Given the description of an element on the screen output the (x, y) to click on. 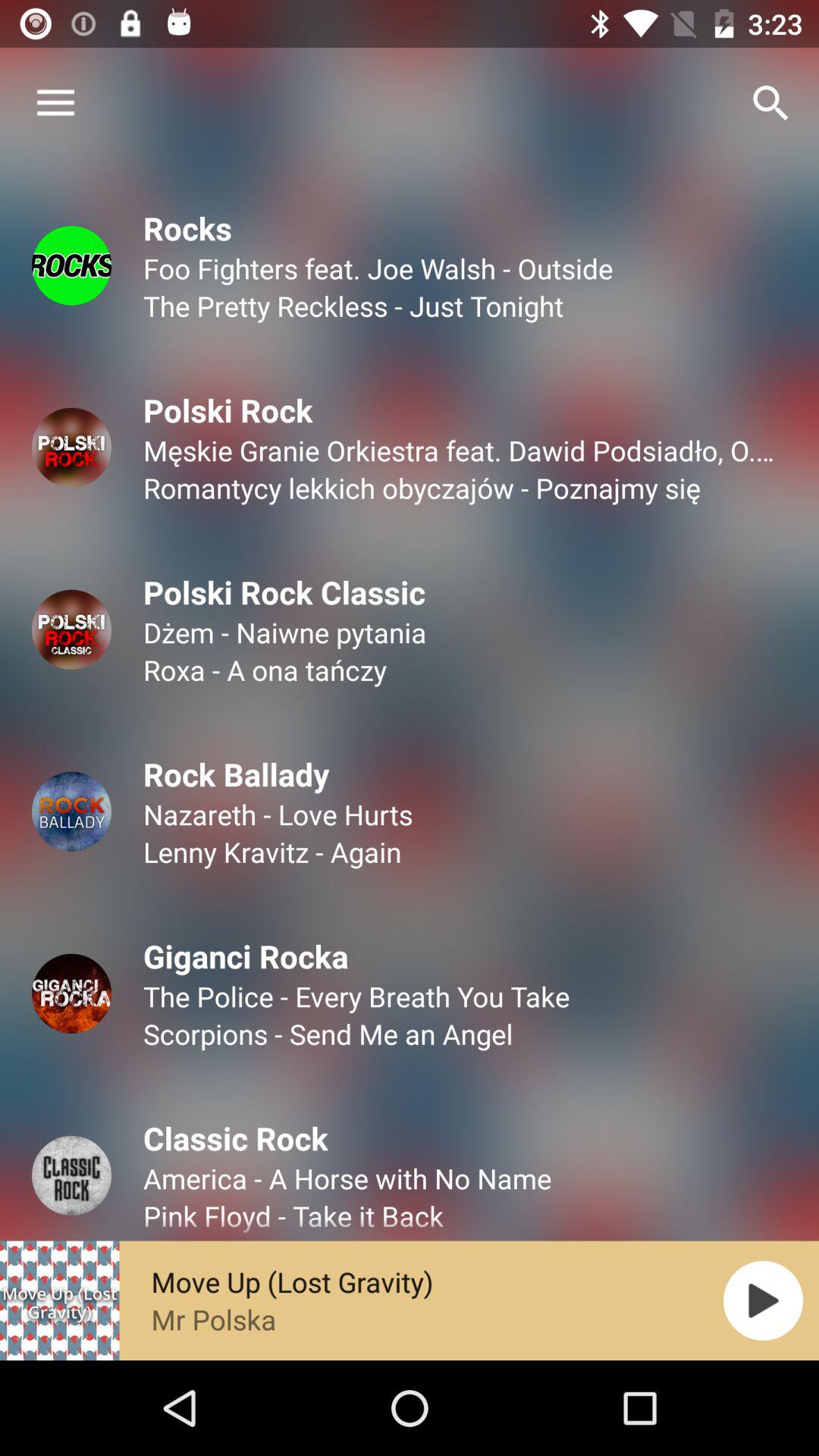
turn off icon next to the move up lost icon (763, 1300)
